Given the description of an element on the screen output the (x, y) to click on. 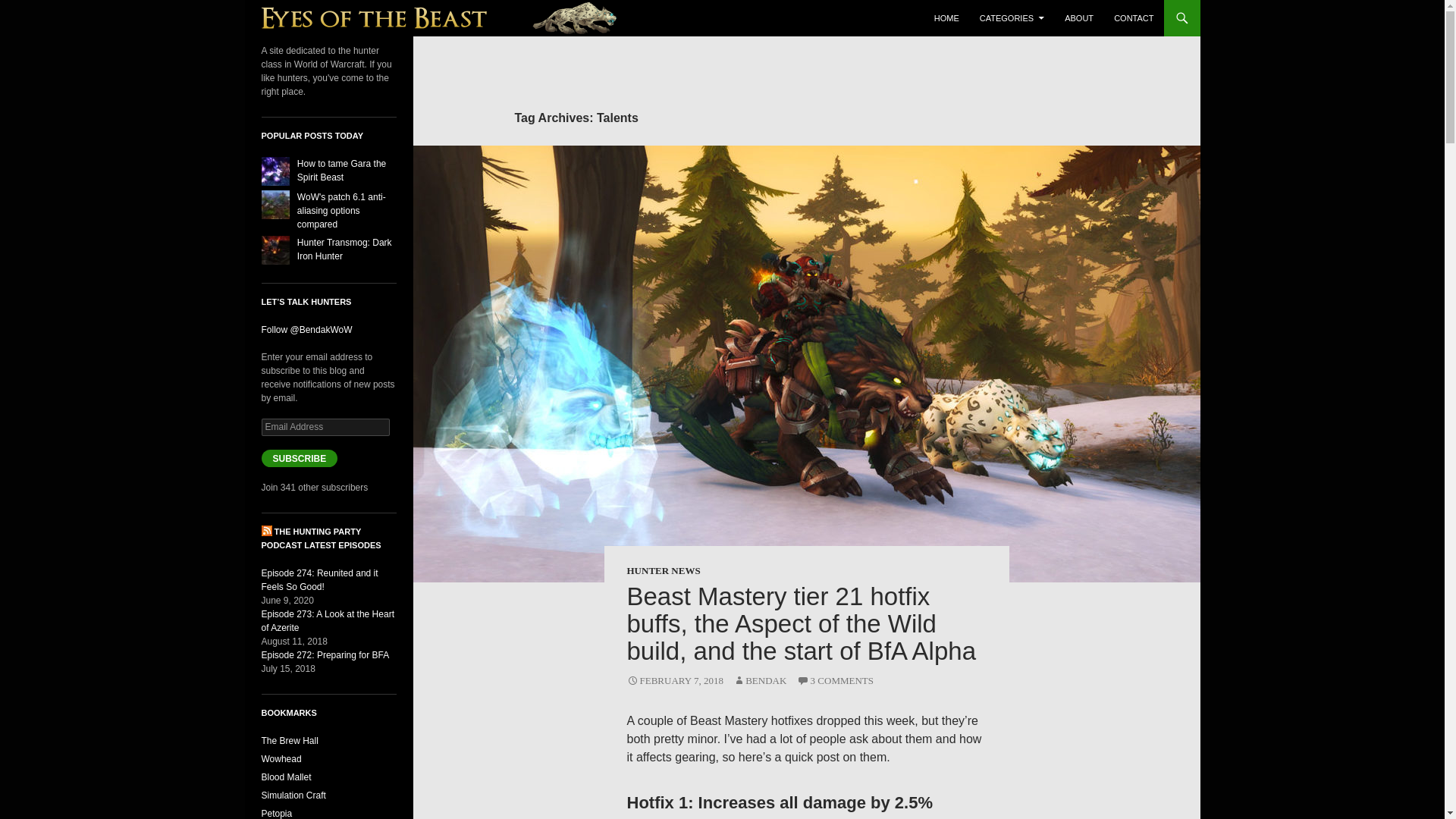
HUNTER NEWS (663, 570)
FEBRUARY 7, 2018 (674, 680)
CONTACT (1133, 18)
ABOUT (1078, 18)
BENDAK (759, 680)
CATEGORIES (1011, 18)
3 COMMENTS (834, 680)
HOME (946, 18)
